Given the description of an element on the screen output the (x, y) to click on. 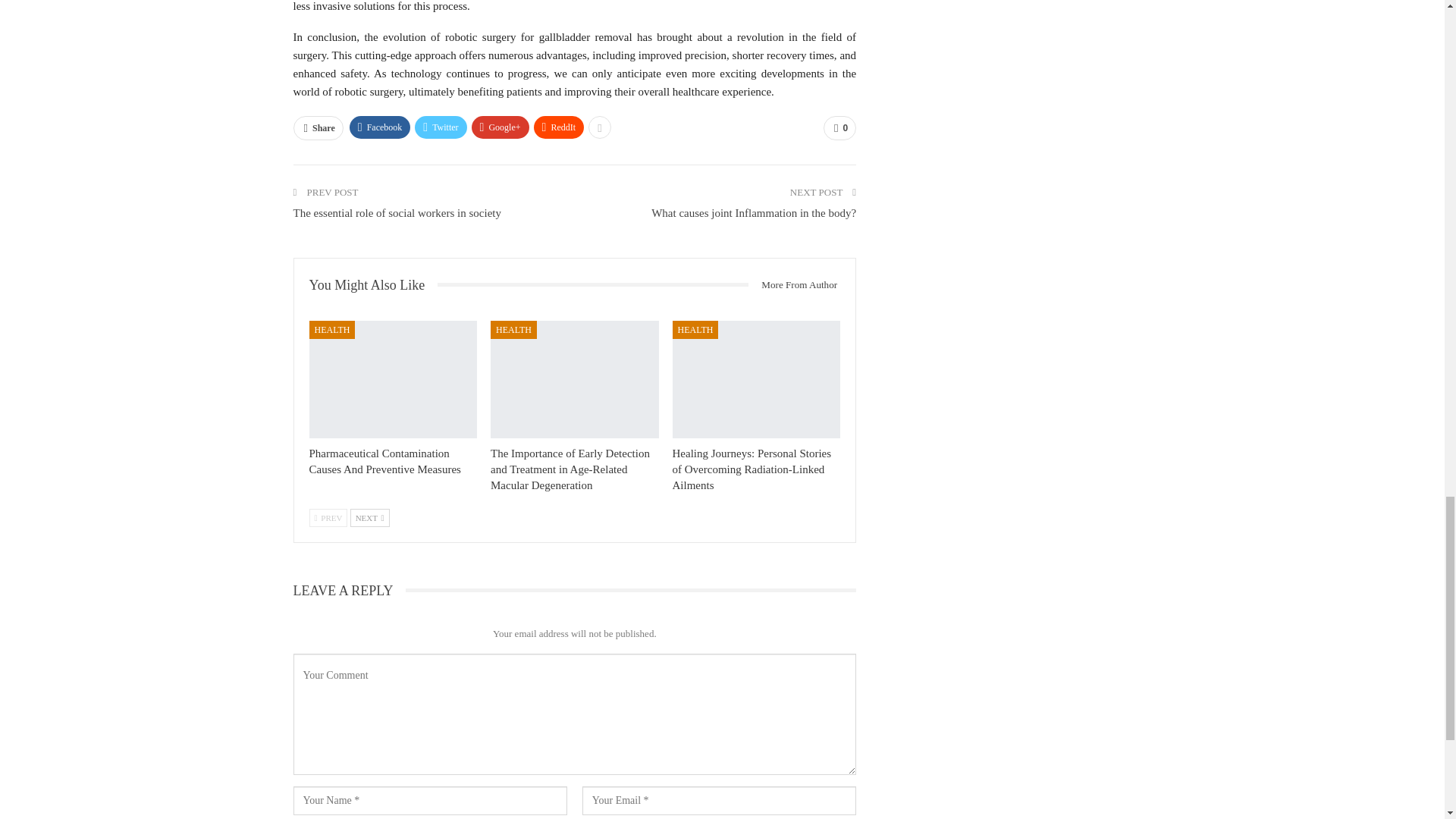
Facebook (379, 127)
Pharmaceutical Contamination Causes And Preventive Measures (384, 461)
The essential role of social workers in society (396, 213)
0 (840, 128)
Previous (327, 517)
ReddIt (559, 127)
